Given the description of an element on the screen output the (x, y) to click on. 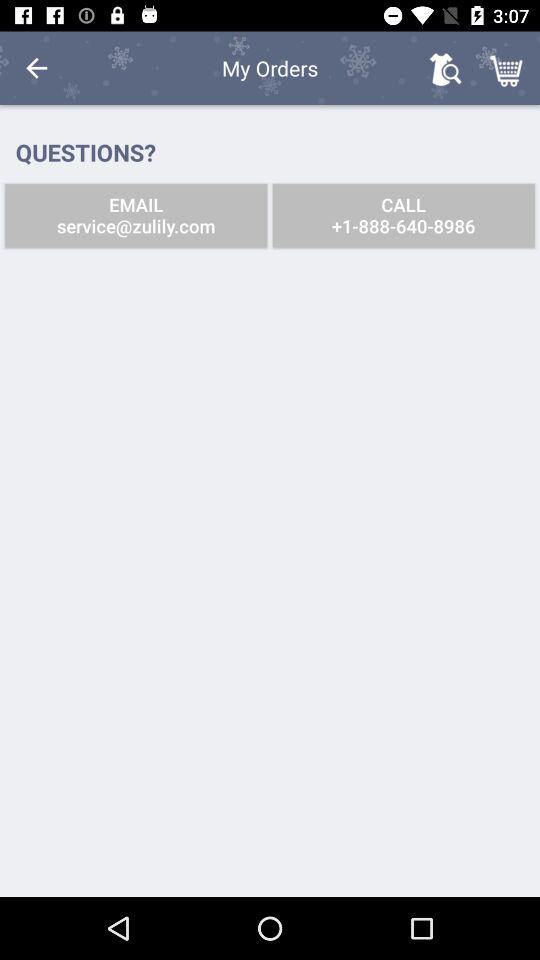
select the item above the call 1 888 icon (508, 67)
